Given the description of an element on the screen output the (x, y) to click on. 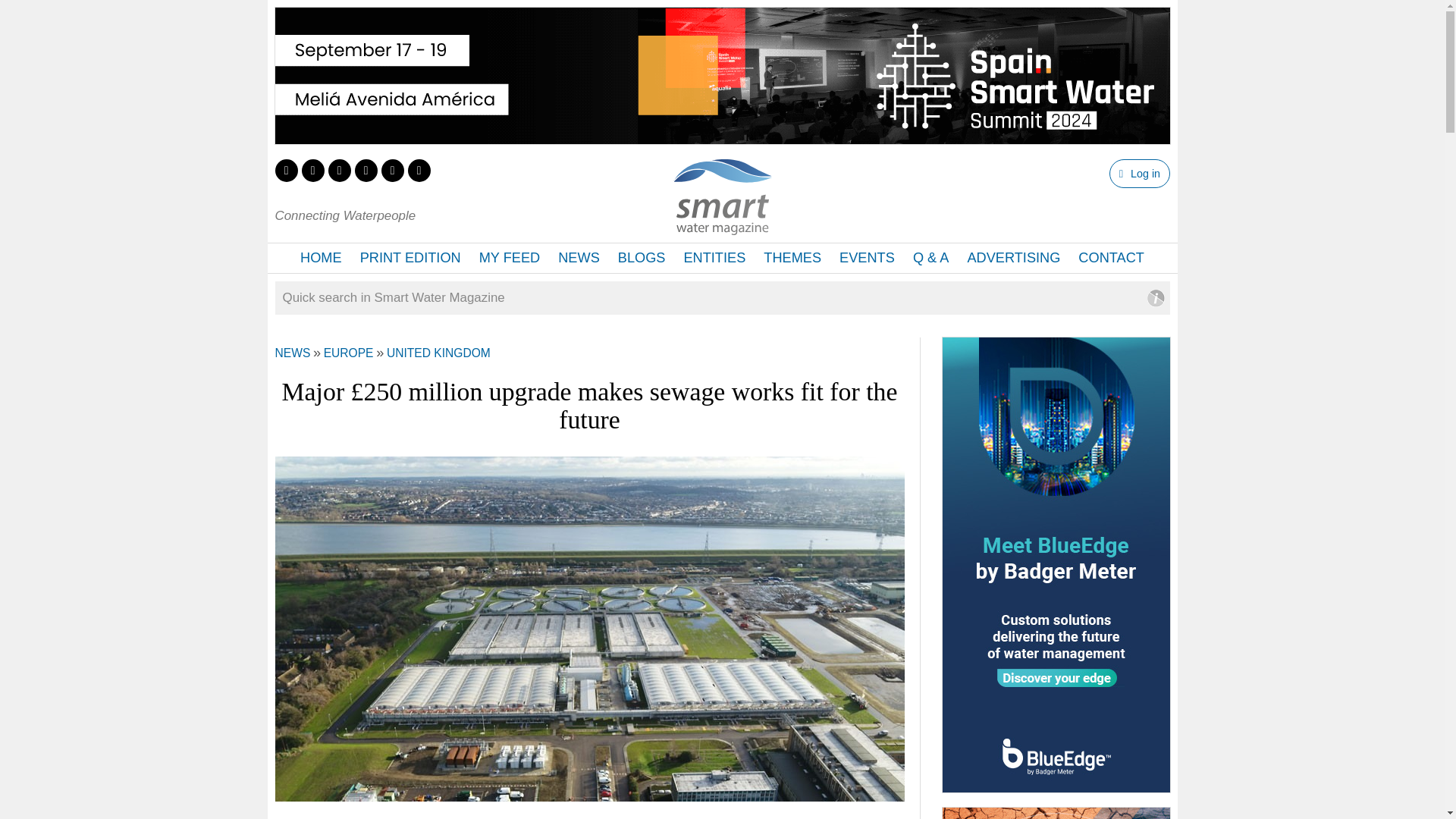
BLOGS (641, 257)
Return to the Smart Water Magazine home page (721, 225)
EUROPE (348, 352)
Follow us on Facebook (312, 169)
ENTITIES (714, 257)
PRINT EDITION (410, 257)
EVENTS (866, 257)
Follow us on Youtube (391, 169)
Subscribe to our newsletter (418, 169)
Follow us on Instagram (366, 169)
Log in (1139, 173)
ADVERTISING (1013, 257)
THEMES (791, 257)
Skip to main content (677, 1)
Log in (1139, 173)
